Given the description of an element on the screen output the (x, y) to click on. 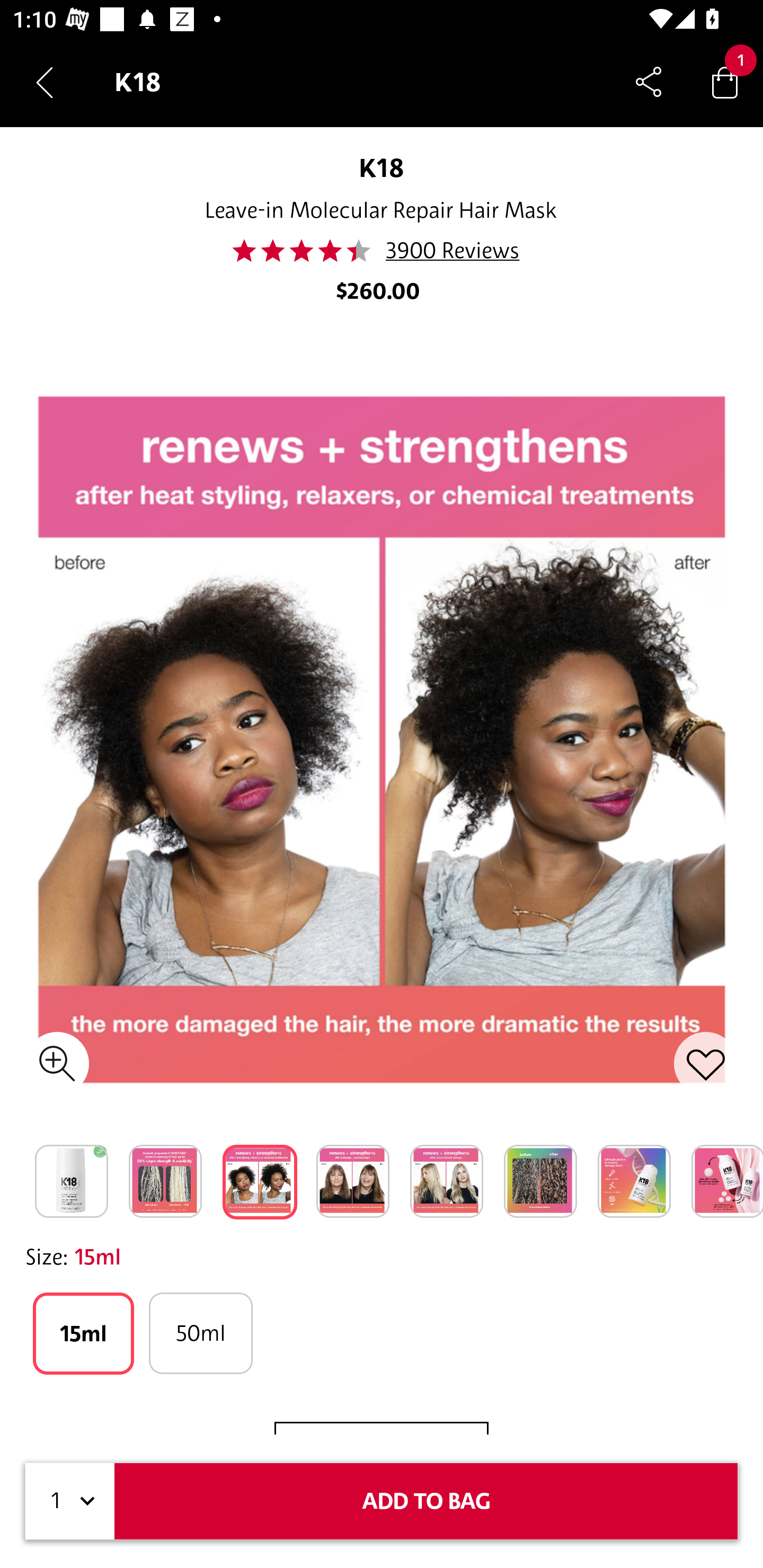
Navigate up (44, 82)
Share (648, 81)
Bag (724, 81)
K18 (381, 167)
44.0 3900 Reviews (380, 250)
15ml (83, 1333)
50ml (200, 1332)
1 (69, 1500)
ADD TO BAG (425, 1500)
